Given the description of an element on the screen output the (x, y) to click on. 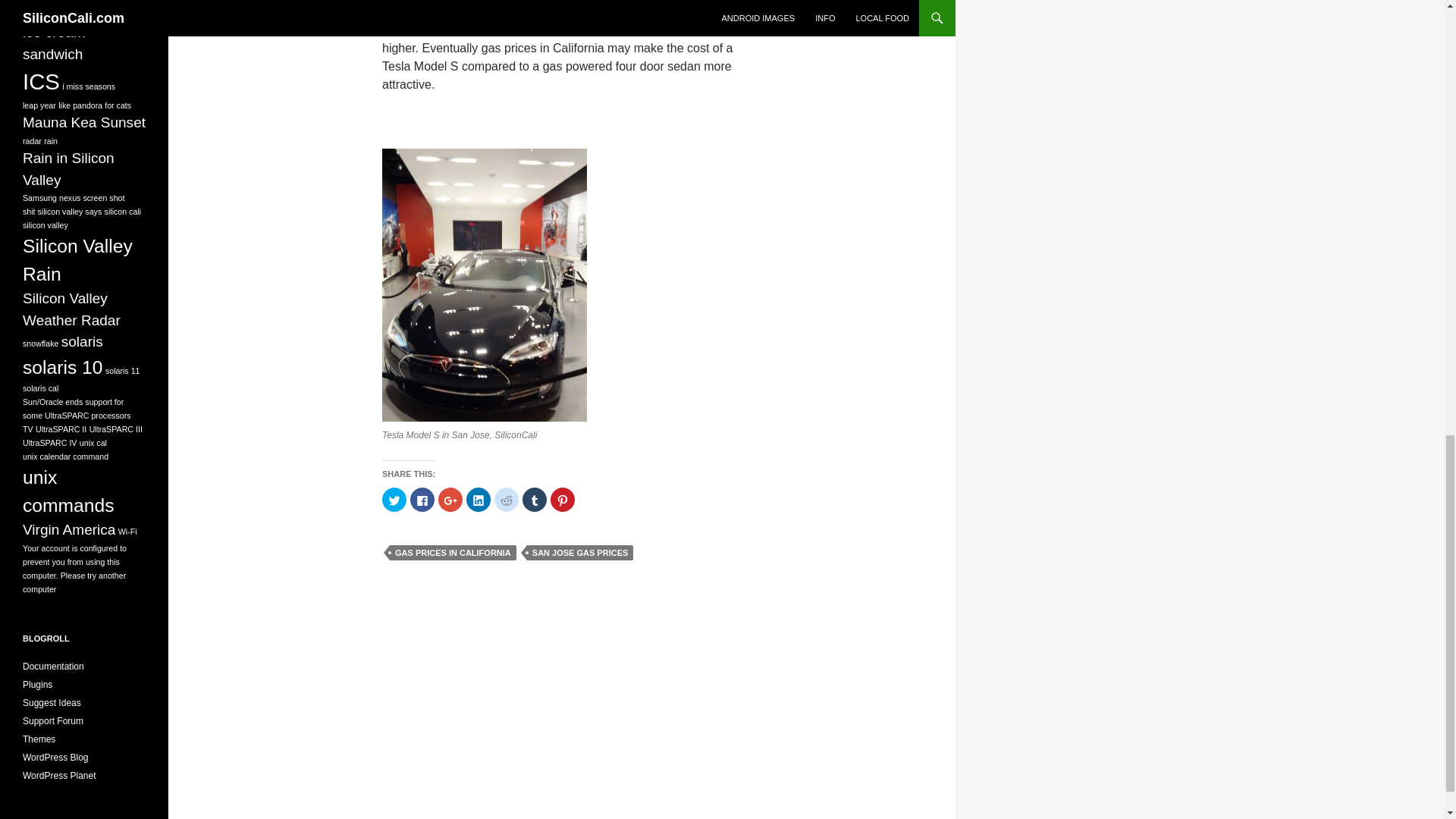
like pandora for cats (94, 104)
GAS PRICES IN CALIFORNIA (453, 552)
ice cream sandwich (54, 43)
Click to share on Twitter (393, 499)
SAN JOSE GAS PRICES (580, 552)
ICS (41, 81)
Click to share on Tumblr (534, 499)
Click to share on Pinterest (562, 499)
Click to share on Facebook (421, 499)
Click to share on Reddit (506, 499)
google sky (57, 10)
i miss seasons (88, 85)
leap year (39, 104)
Click to share on LinkedIn (477, 499)
